Given the description of an element on the screen output the (x, y) to click on. 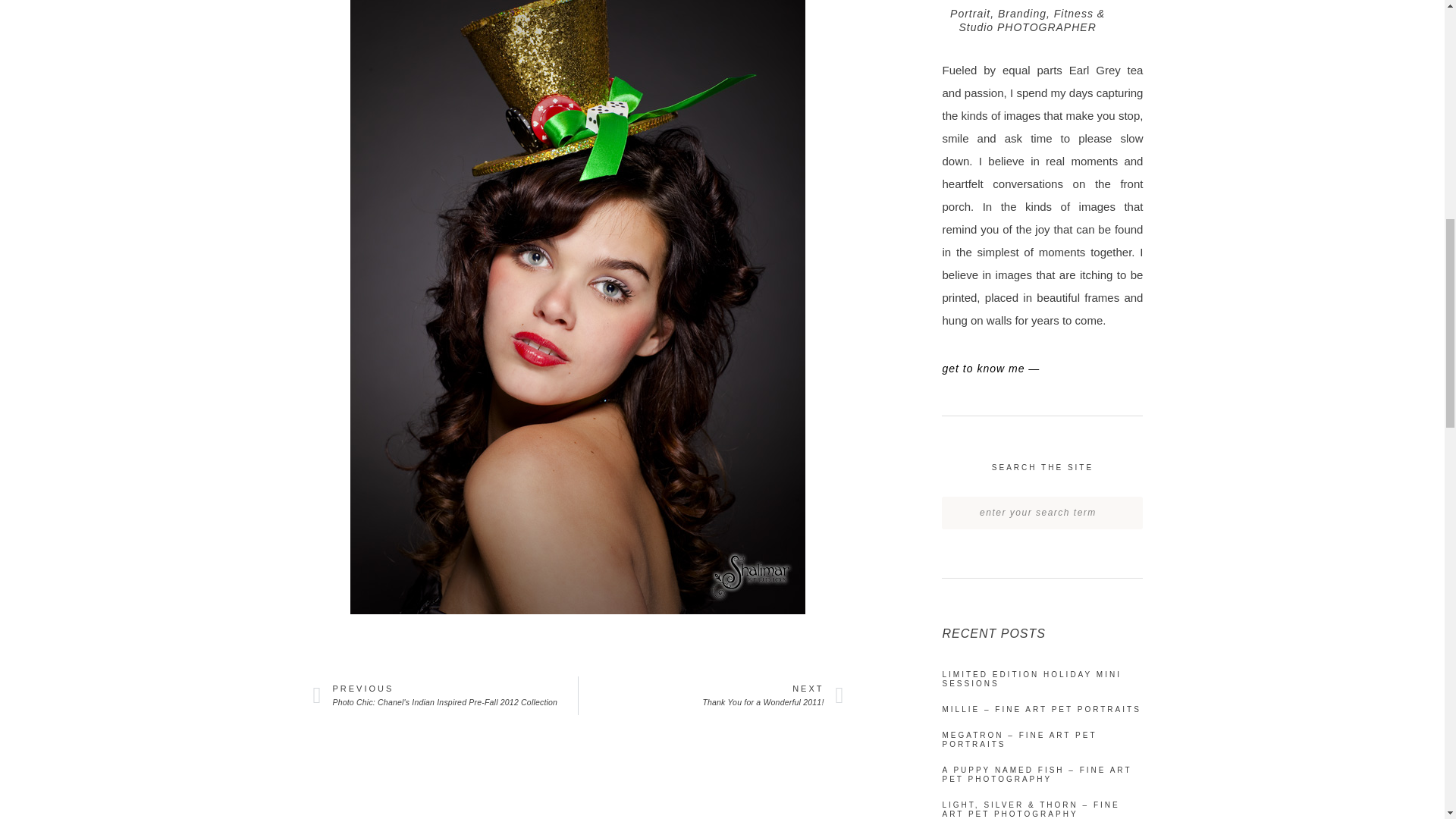
LIMITED EDITION HOLIDAY MINI SESSIONS (710, 695)
